Given the description of an element on the screen output the (x, y) to click on. 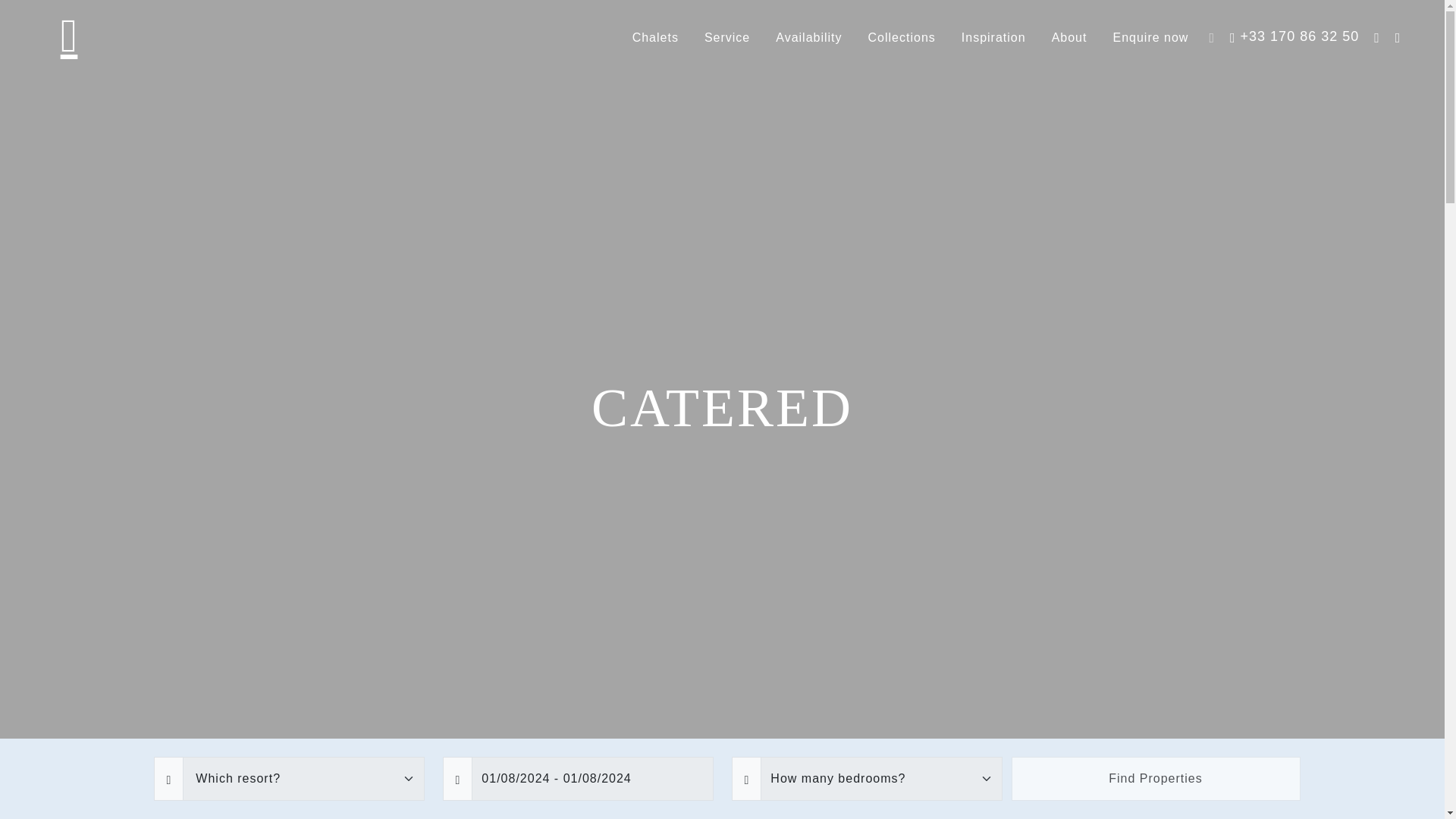
Availability (808, 37)
Service (726, 37)
Chalets (655, 37)
Please enter an arrival and departure date (577, 778)
Find Properties (1155, 778)
Please select a resort (287, 778)
